Given the description of an element on the screen output the (x, y) to click on. 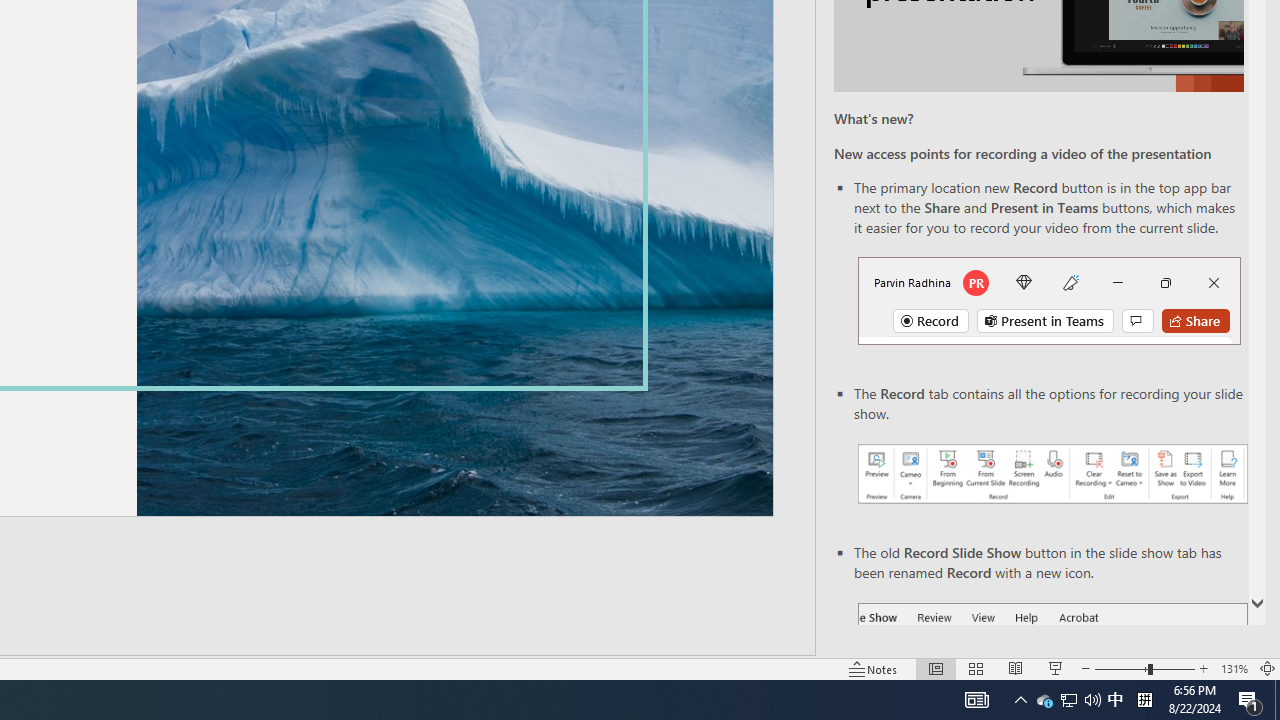
Record your presentations screenshot one (1052, 473)
Zoom 131% (1234, 668)
Record button in top bar (1049, 300)
